Given the description of an element on the screen output the (x, y) to click on. 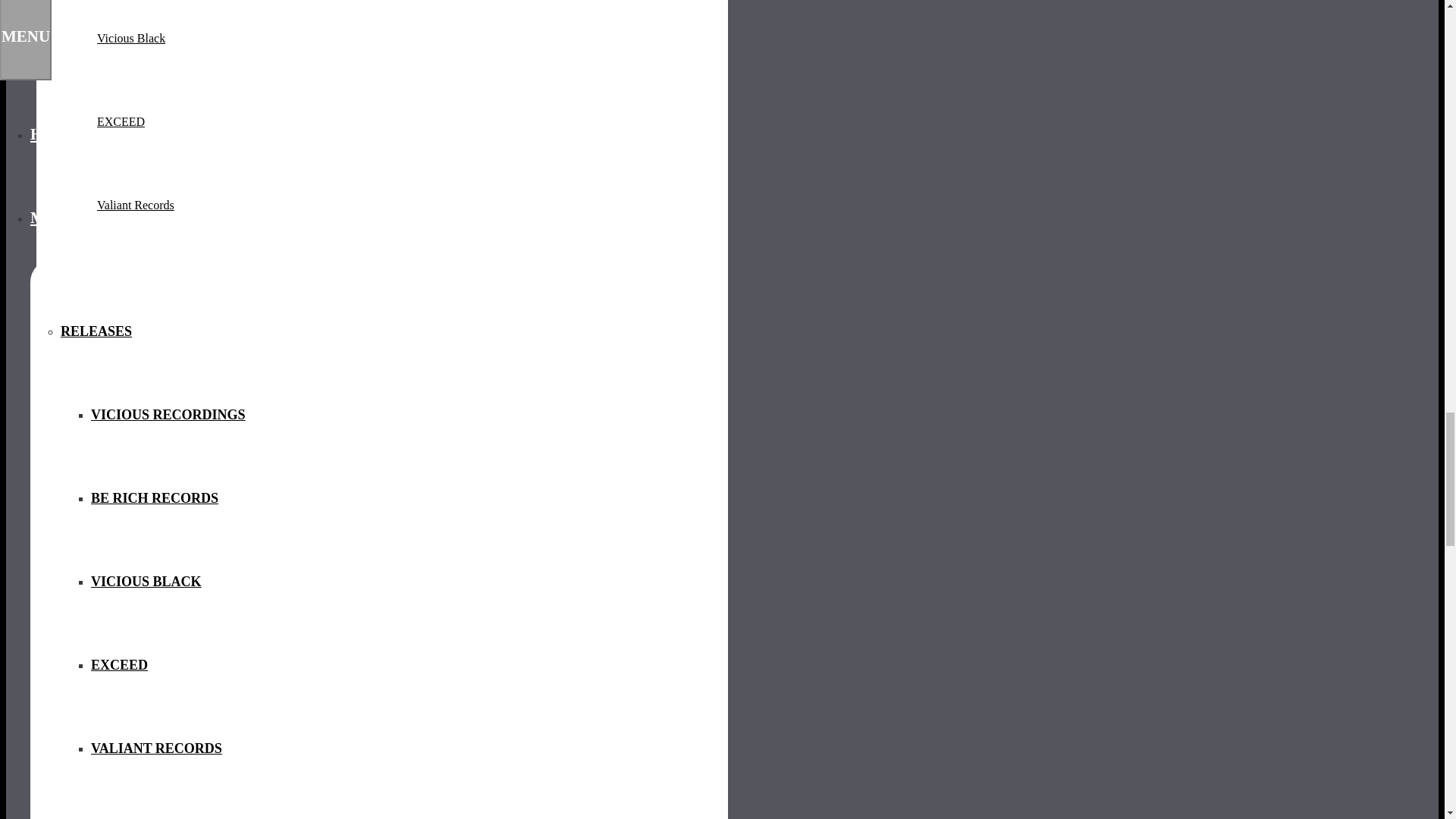
EXCEED (119, 665)
VICIOUS BLACK (146, 581)
BE RICH RECORDS (154, 498)
RELEASES (96, 331)
MUSIC (56, 217)
MENU (25, 40)
HOME (55, 134)
VICIOUS RECORDINGS (168, 414)
